Given the description of an element on the screen output the (x, y) to click on. 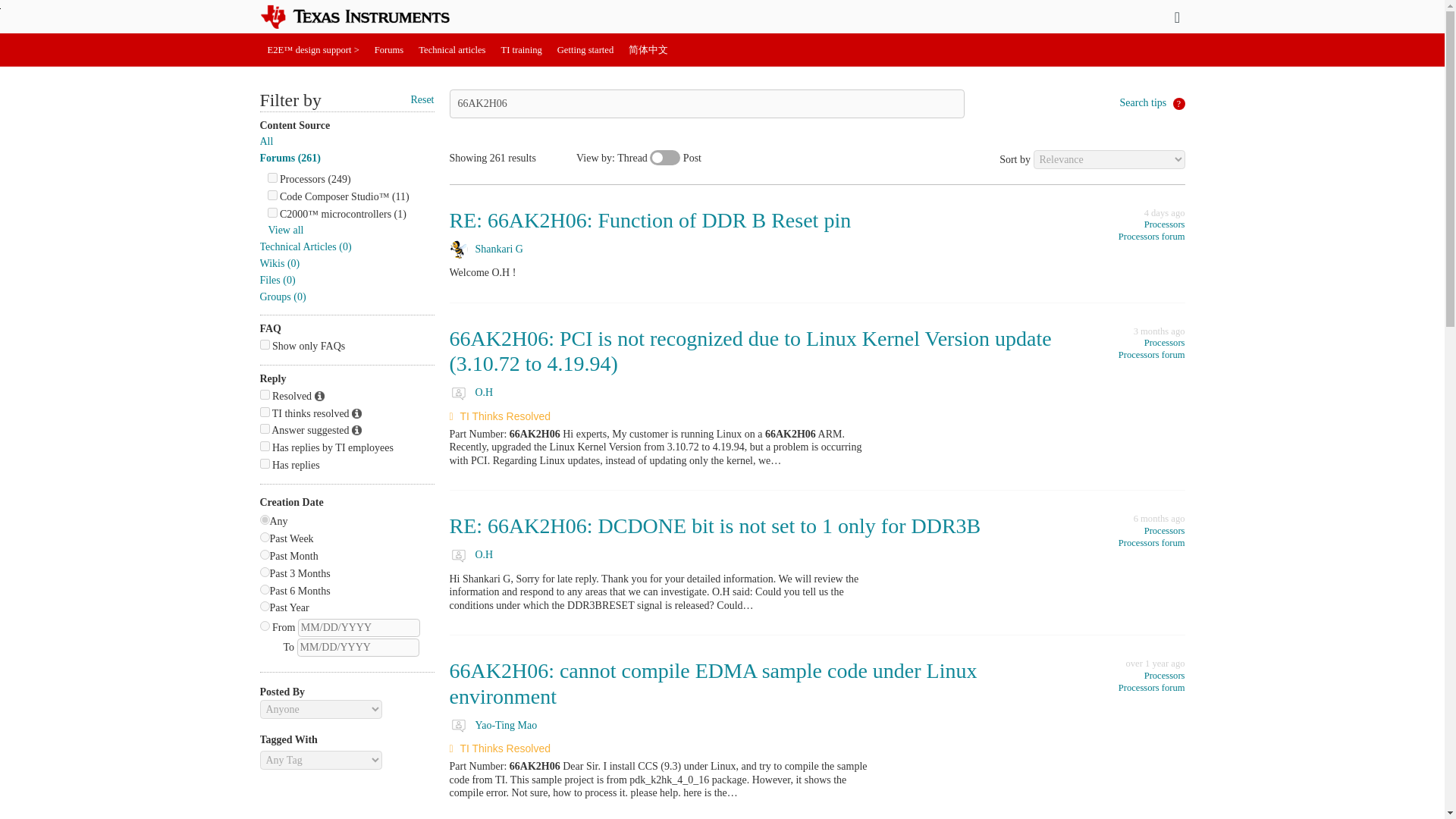
Technical articles (451, 49)
66AK2H06 (705, 103)
TI training (521, 49)
tithinksresolved (264, 411)
Getting started (585, 49)
Forums (389, 49)
TI believes this question has been answered. (356, 413)
User (1177, 17)
Answer has been verified by the customer. (319, 396)
faq (264, 344)
97 (271, 212)
hasrepliesbytiemployees (264, 446)
264 (271, 177)
RE: 66AK2H06: DCDONE bit is not set to 1 only for DDR3B (713, 525)
